Given the description of an element on the screen output the (x, y) to click on. 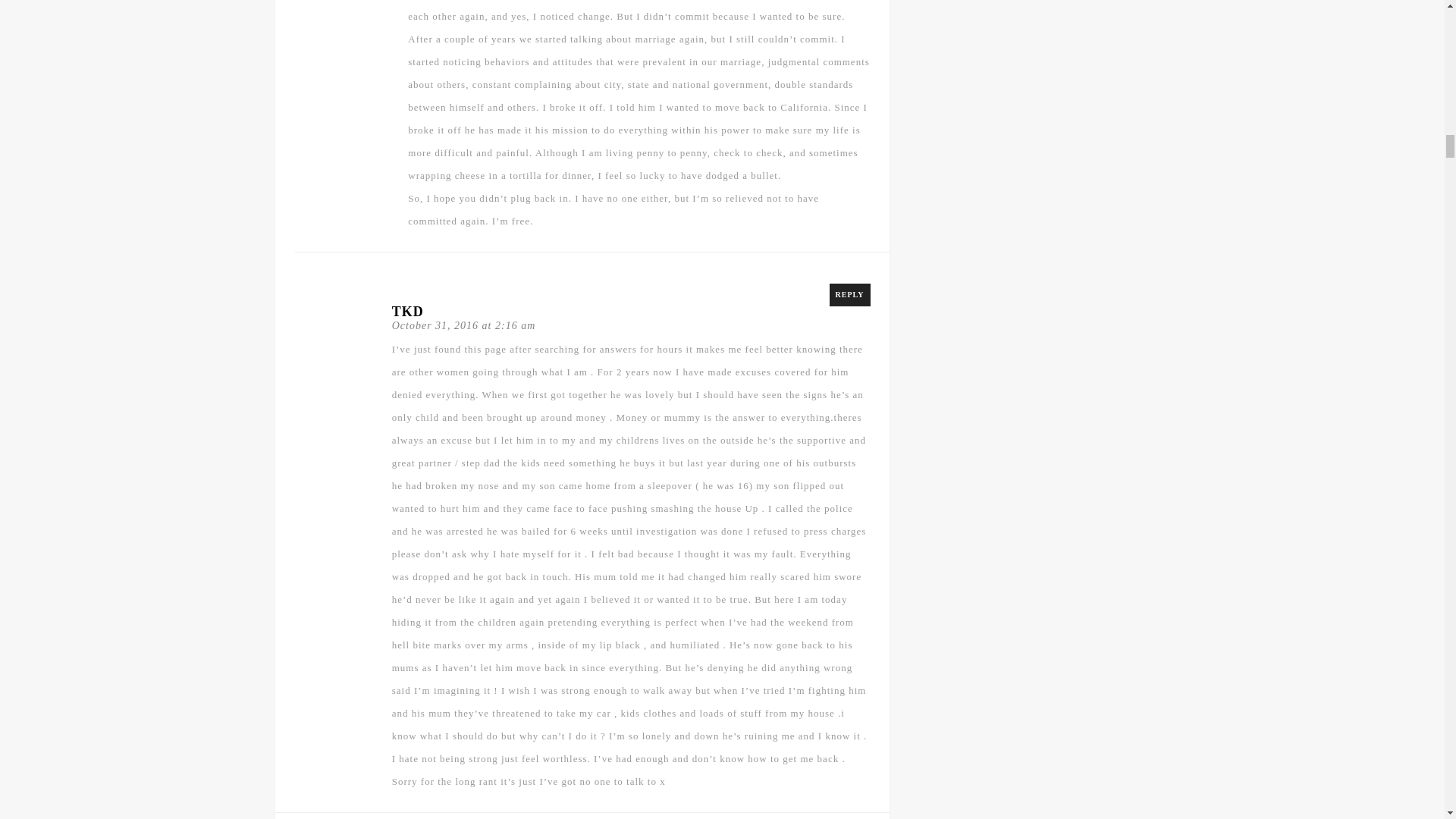
REPLY (849, 294)
